Given the description of an element on the screen output the (x, y) to click on. 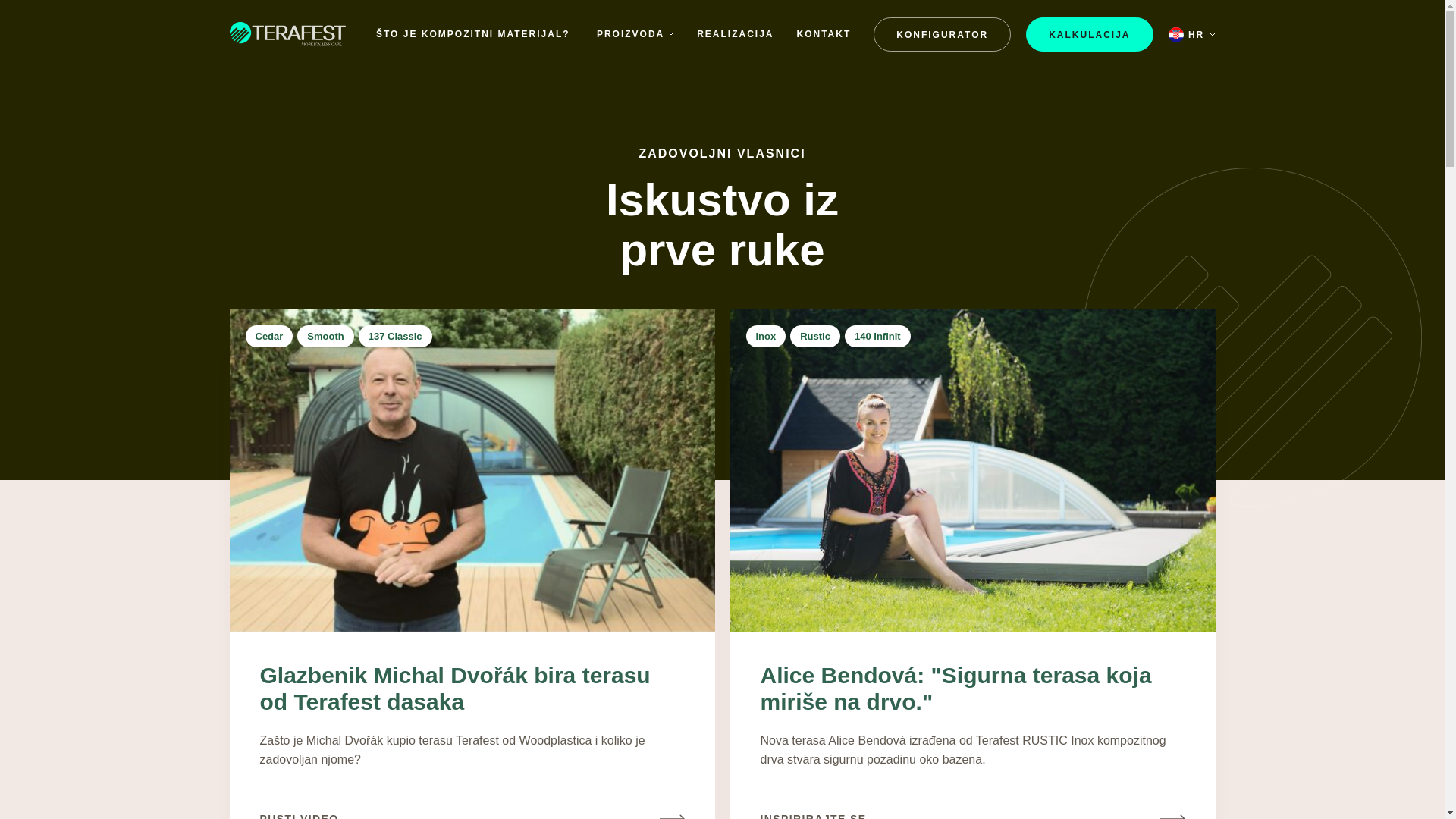
KALKULACIJA (1089, 34)
REALIZACIJA (735, 34)
KONFIGURATOR (941, 34)
PROIZVODA (635, 33)
KONTAKT (823, 34)
